Given the description of an element on the screen output the (x, y) to click on. 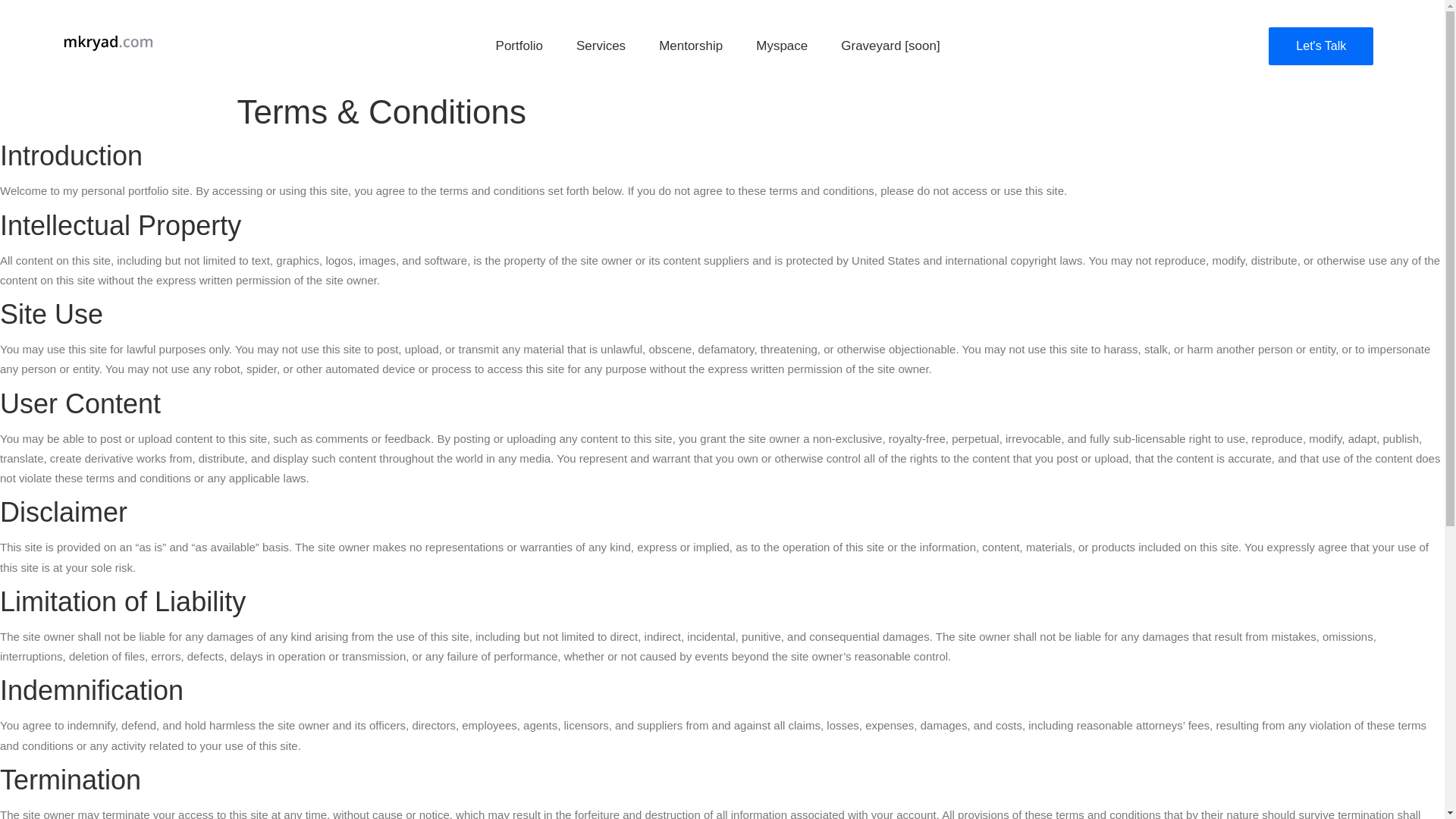
Portfolio (519, 46)
Services (601, 46)
Myspace (781, 46)
Let's Talk (1320, 46)
Mentorship (690, 46)
